Given the description of an element on the screen output the (x, y) to click on. 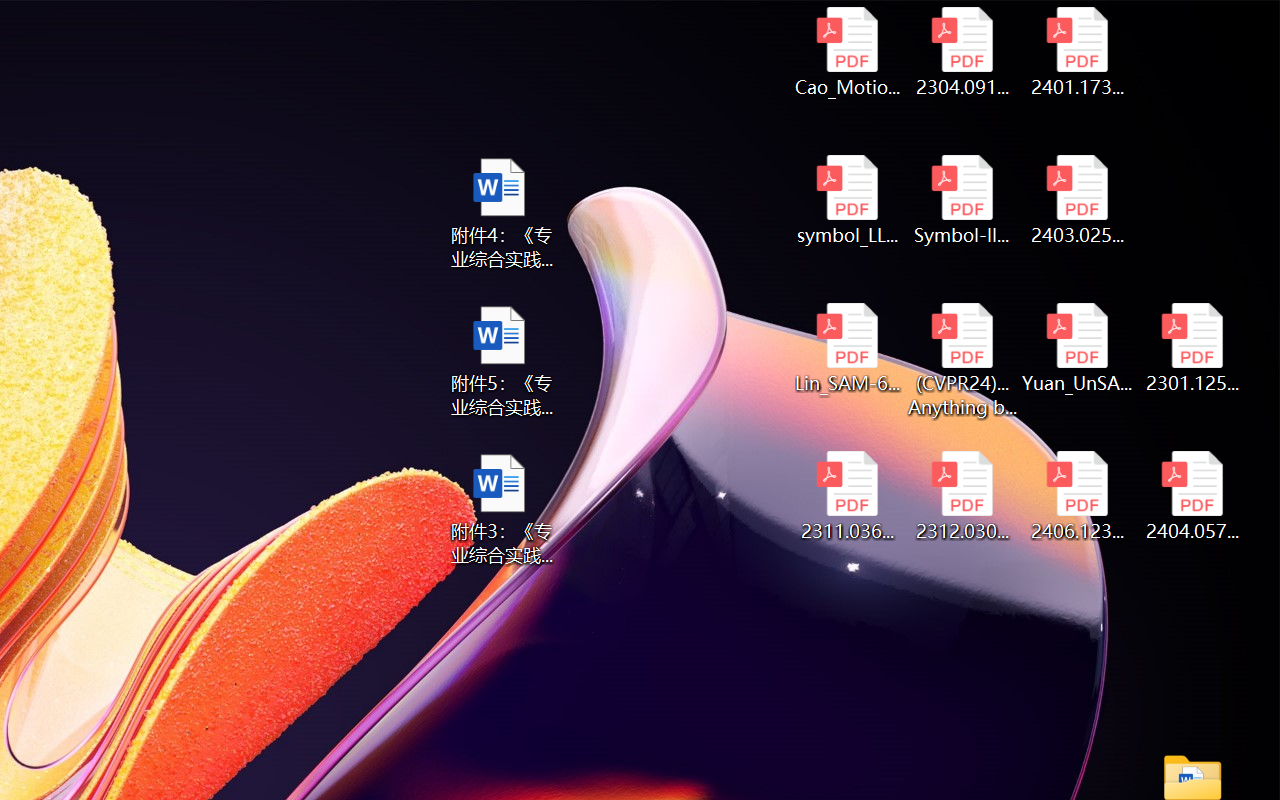
2403.02502v1.pdf (1077, 200)
2401.17399v1.pdf (1077, 52)
